Given the description of an element on the screen output the (x, y) to click on. 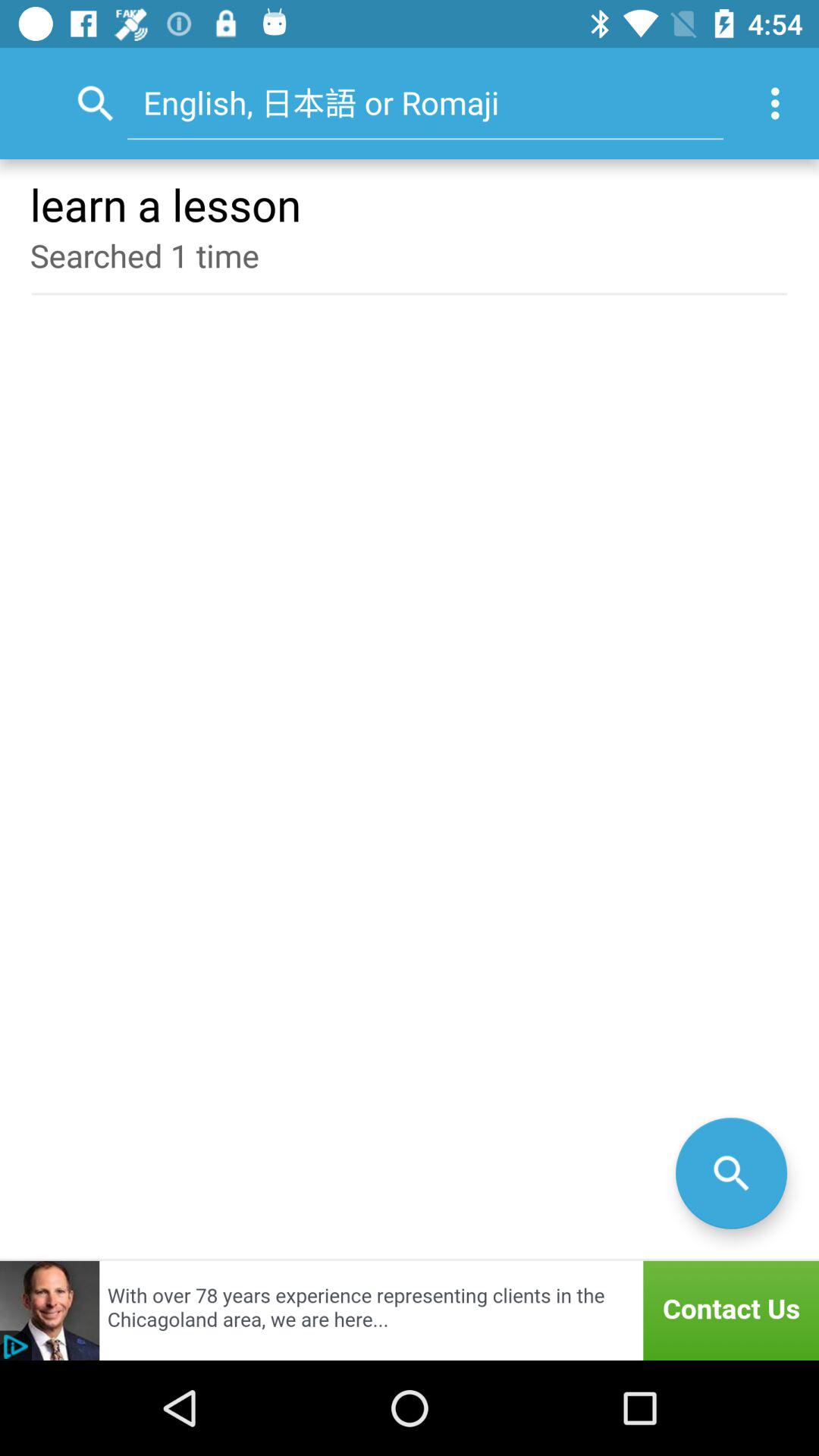
turn on the icon at the top right corner (779, 103)
